Given the description of an element on the screen output the (x, y) to click on. 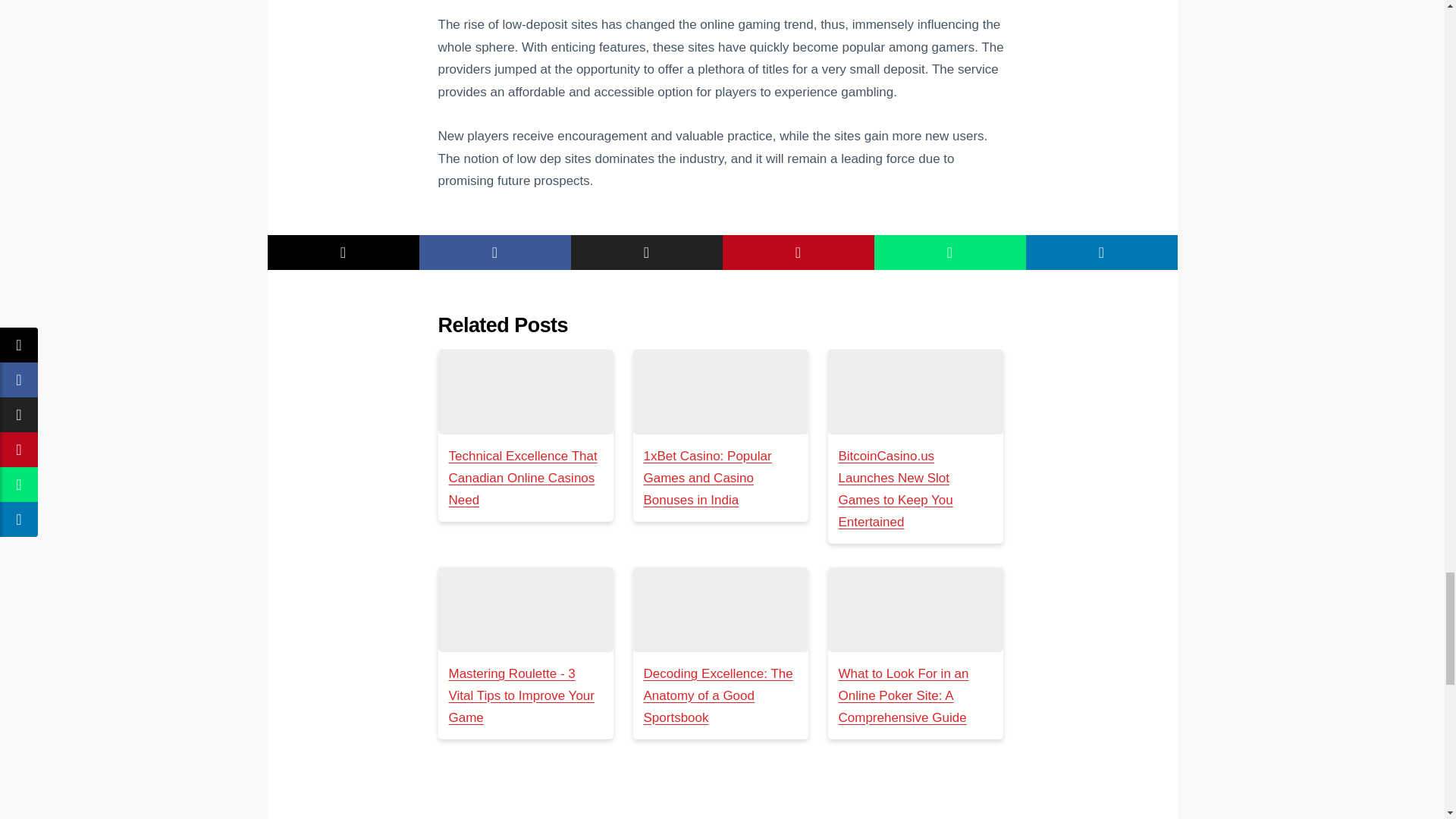
Technical Excellence That Canadian Online Casinos Need (522, 477)
Technical Excellence That Canadian Online Casinos Need (525, 391)
Mastering Roulette - 3 Vital Tips to Improve Your Game (521, 695)
Decoding Excellence: The Anatomy of a Good Sportsbook (719, 609)
1xBet Casino: Popular Games and Casino Bonuses in India (707, 477)
Decoding Excellence: The Anatomy of a Good Sportsbook (717, 695)
Mastering Roulette - 3 Vital Tips to Improve Your Game (525, 609)
1xBet Casino: Popular Games and Casino Bonuses in India (719, 391)
